Given the description of an element on the screen output the (x, y) to click on. 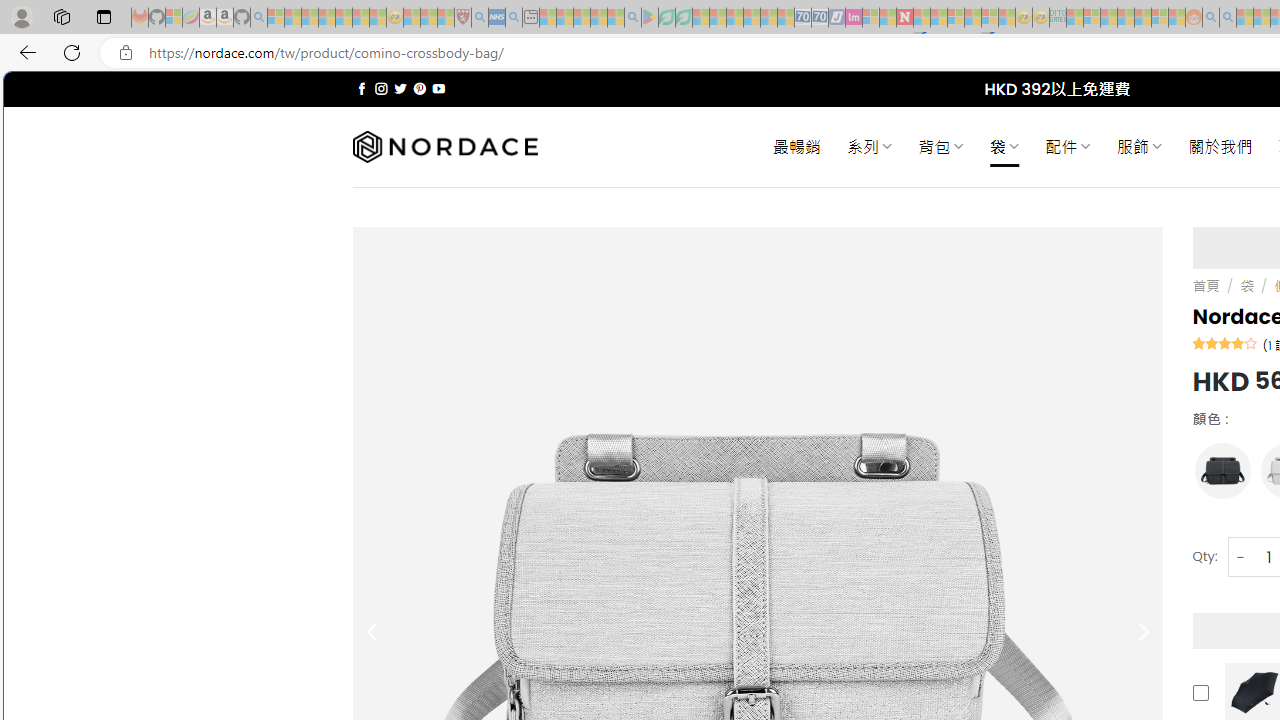
utah sues federal government - Search - Sleeping (513, 17)
Follow on Facebook (361, 88)
